Given the description of an element on the screen output the (x, y) to click on. 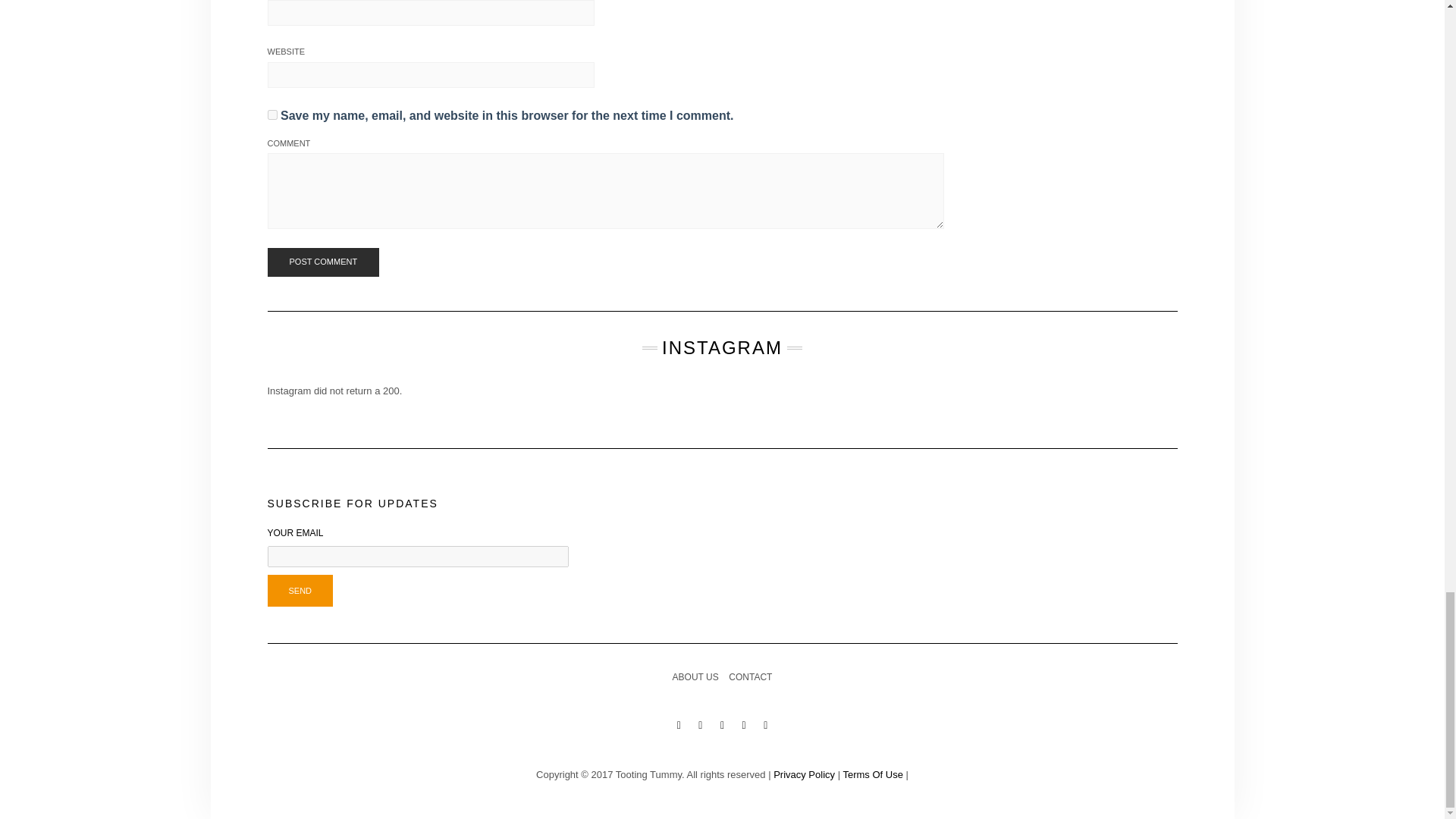
Post Comment (322, 262)
Send (299, 590)
yes (271, 114)
Post Comment (322, 262)
